Given the description of an element on the screen output the (x, y) to click on. 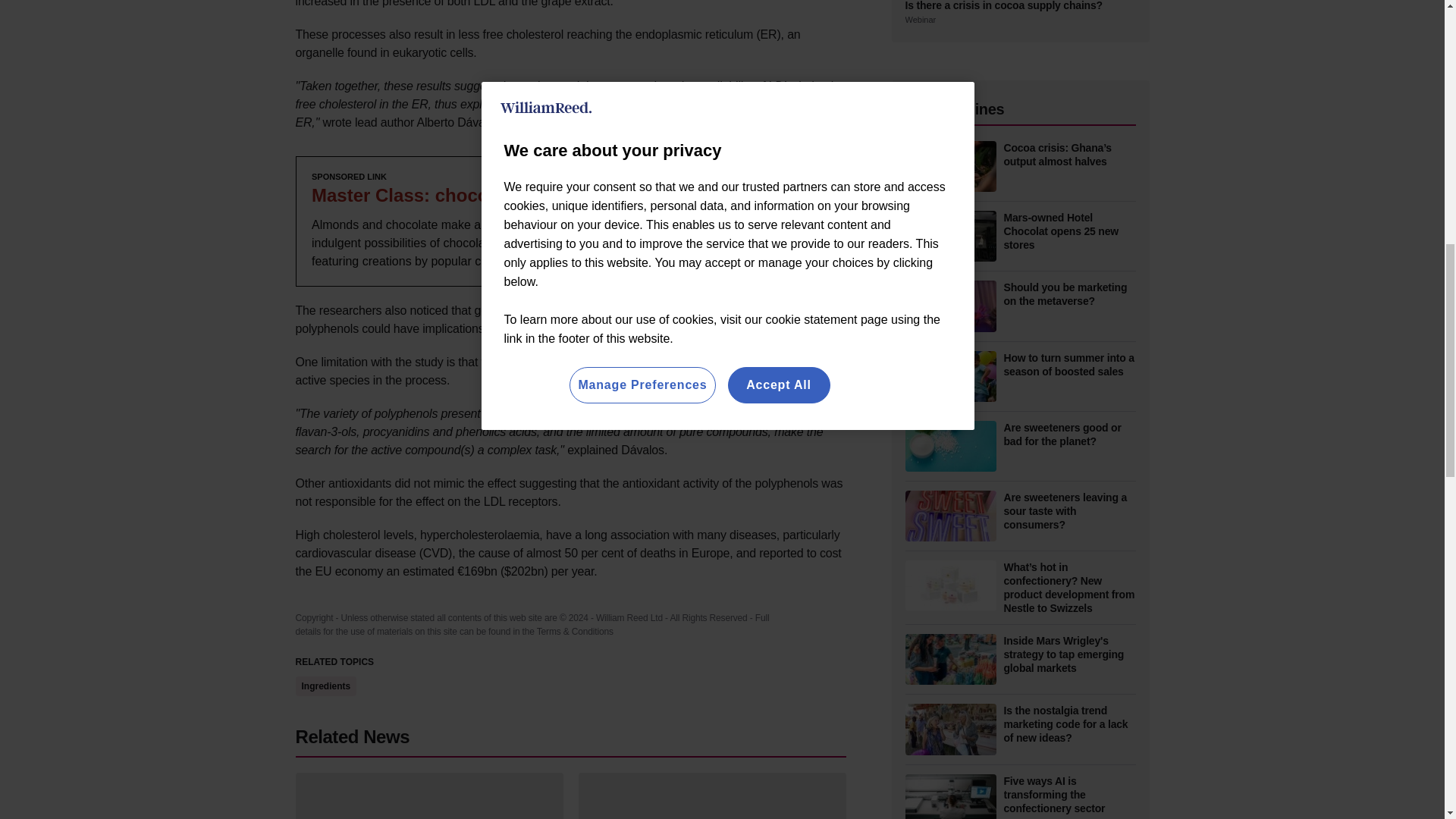
3rd party ad content (570, 221)
